Given the description of an element on the screen output the (x, y) to click on. 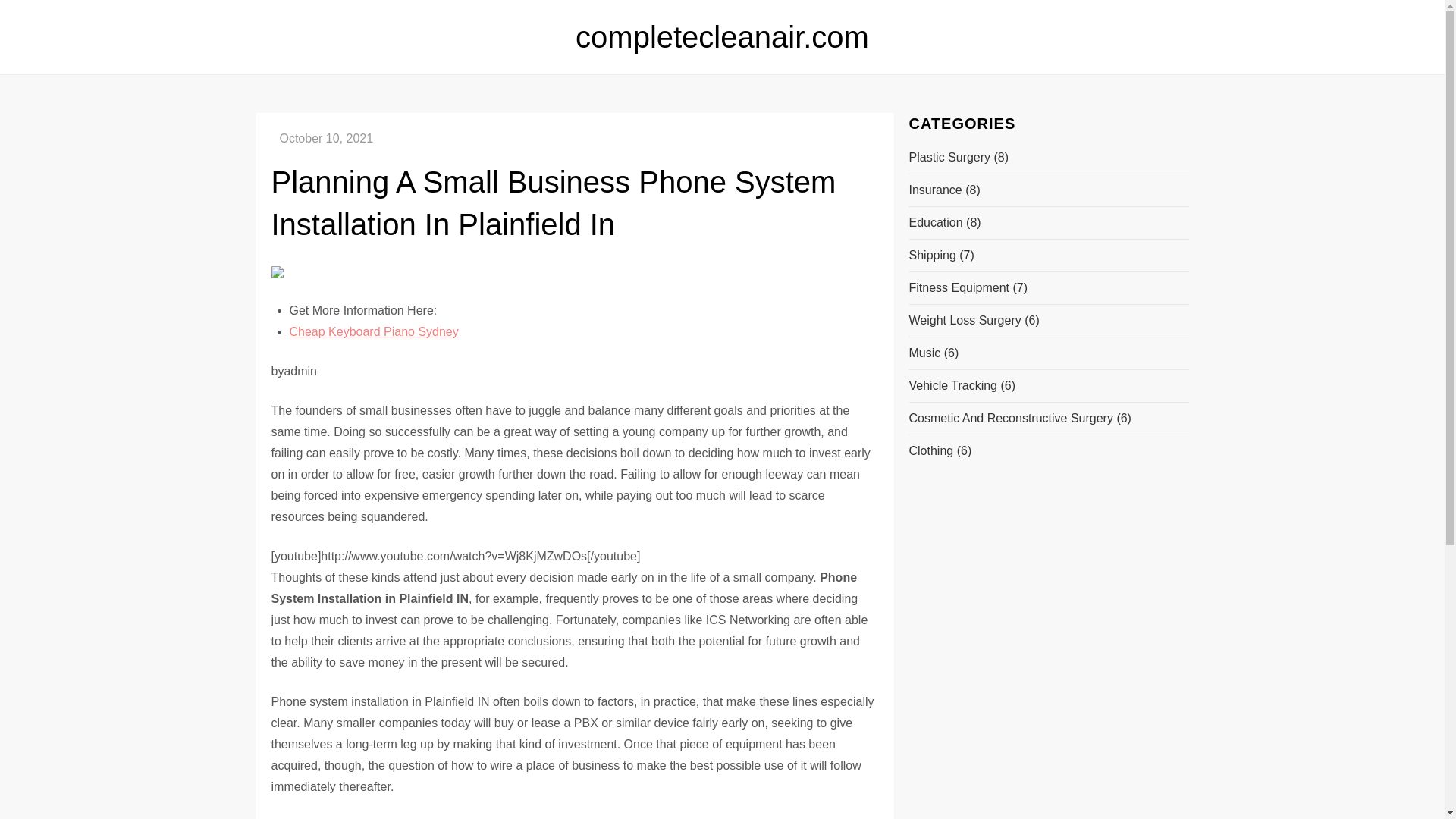
October 10, 2021 (325, 137)
Cheap Keyboard Piano Sydney (373, 331)
completecleanair.com (722, 37)
